Given the description of an element on the screen output the (x, y) to click on. 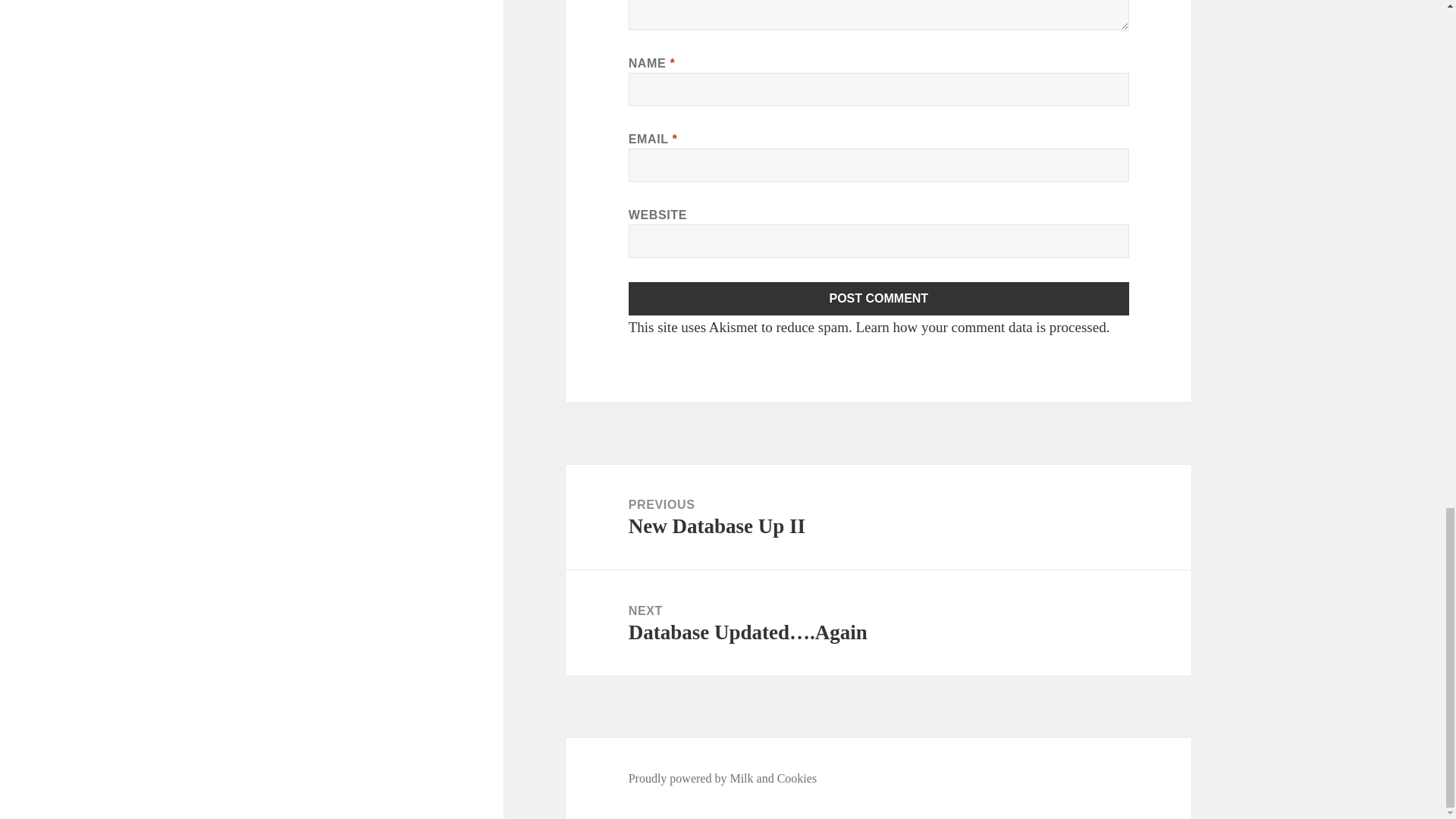
Post Comment (878, 298)
